Given the description of an element on the screen output the (x, y) to click on. 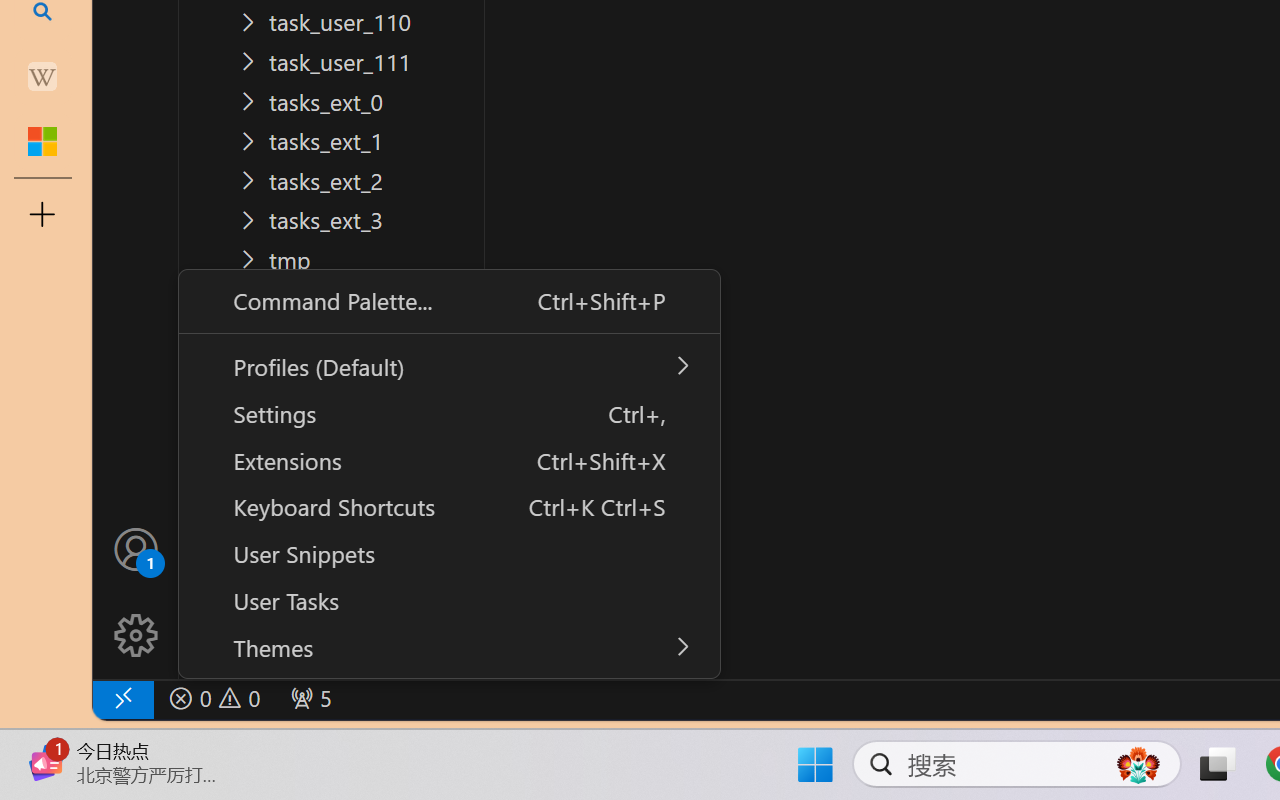
No Problems (212, 698)
User Snippets (448, 552)
Accounts - Sign in requested (135, 548)
Command Palette... Ctrl+Shift+P (448, 300)
Profiles (Default) (448, 366)
Outline Section (331, 619)
Themes (448, 647)
Keyboard Shortcuts Ctrl+K Ctrl+S (448, 507)
Forwarded Ports: 36301, 47065, 38781, 45817, 50331 (308, 698)
